Given the description of an element on the screen output the (x, y) to click on. 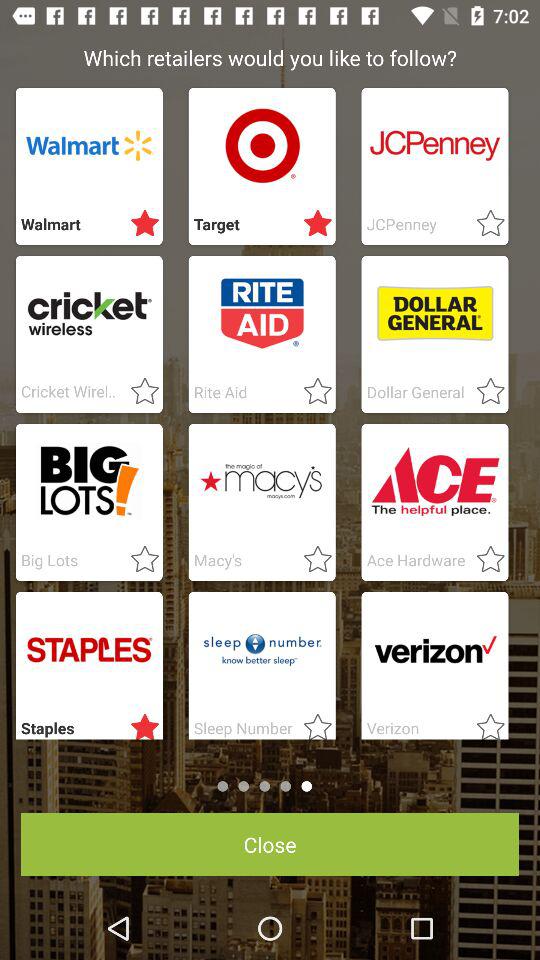
star button (484, 723)
